Given the description of an element on the screen output the (x, y) to click on. 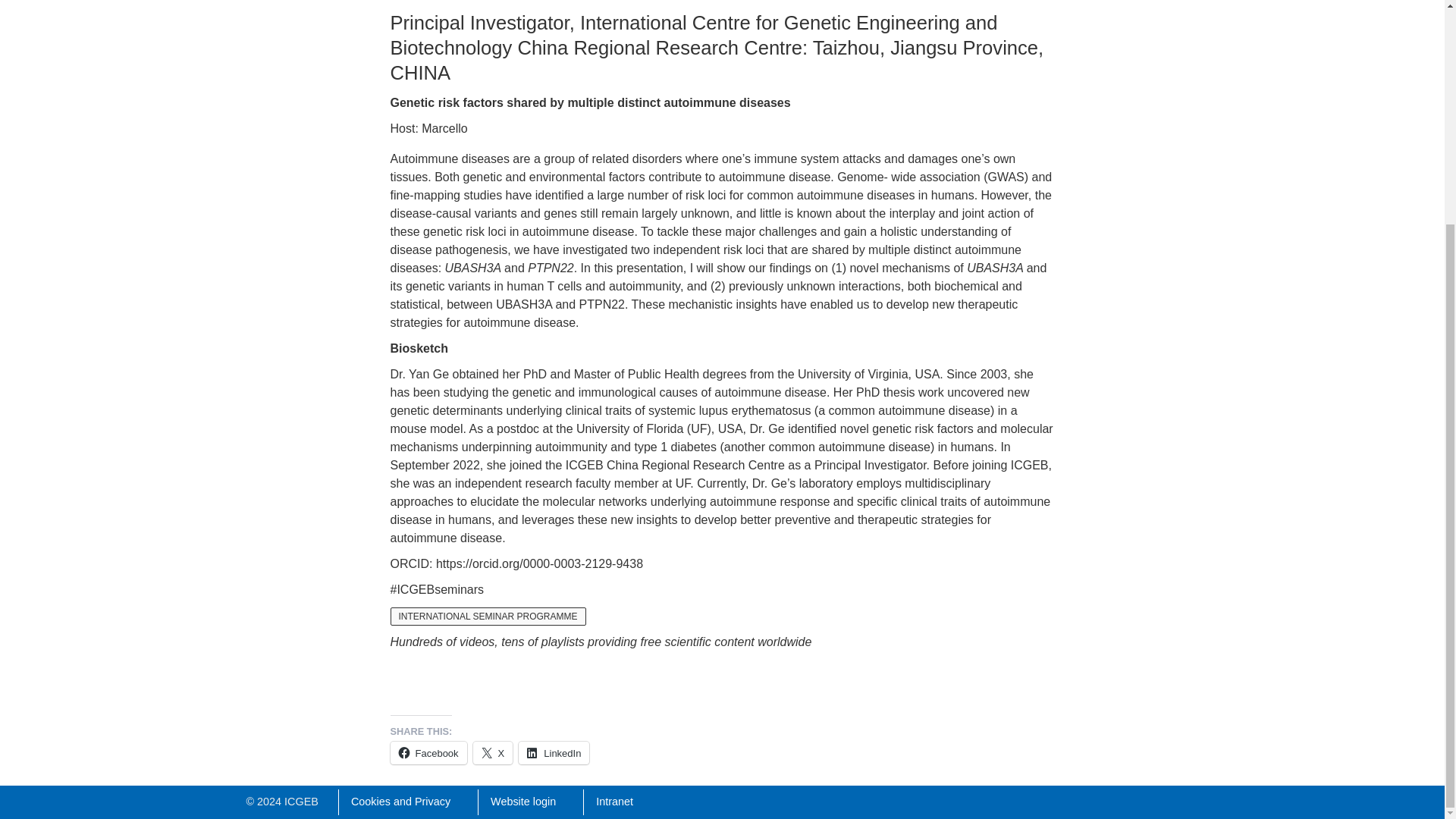
Click to share on X (493, 753)
Click to share on LinkedIn (553, 753)
Click to share on Facebook (427, 753)
